Given the description of an element on the screen output the (x, y) to click on. 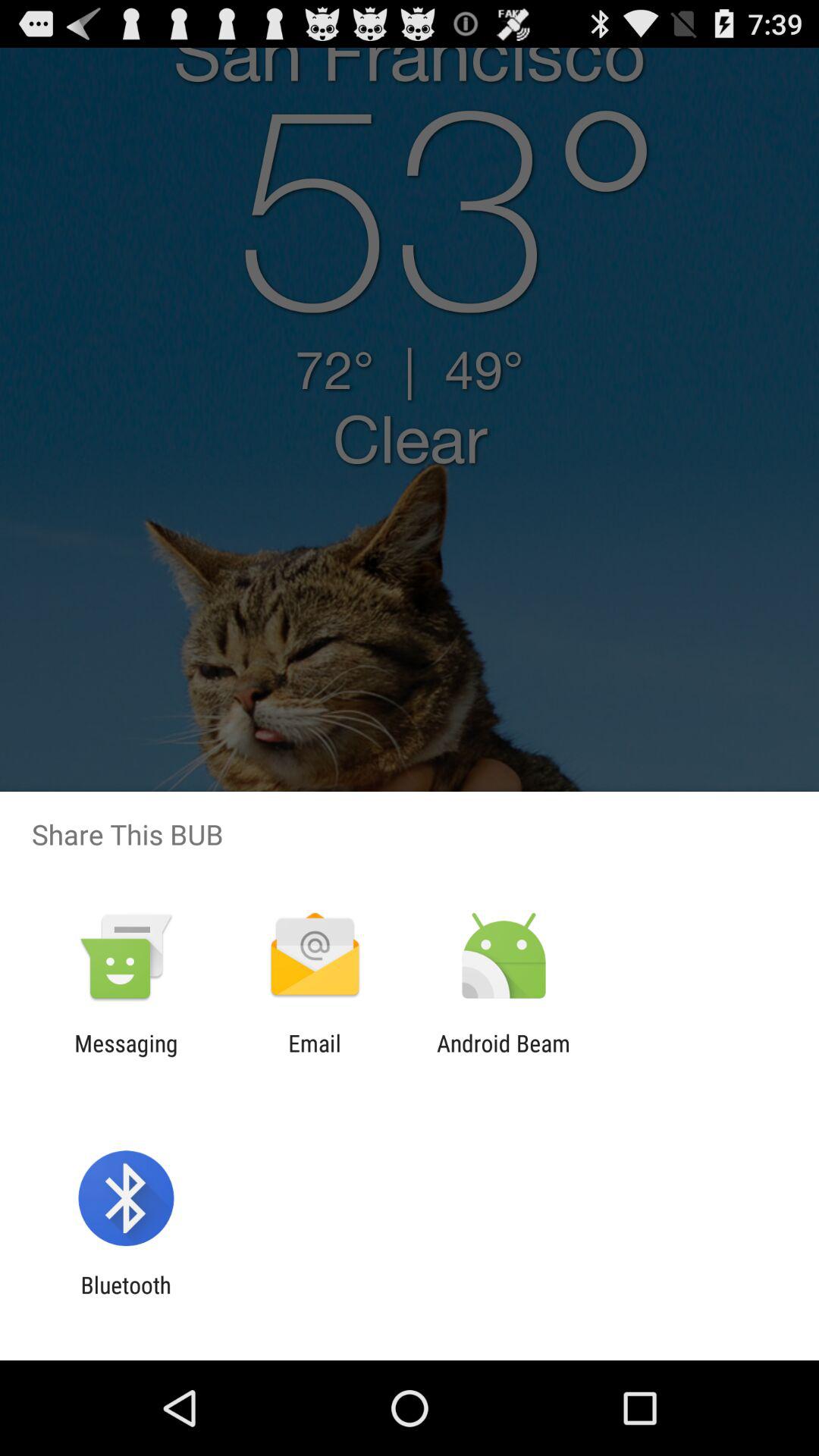
launch app next to email (503, 1056)
